Given the description of an element on the screen output the (x, y) to click on. 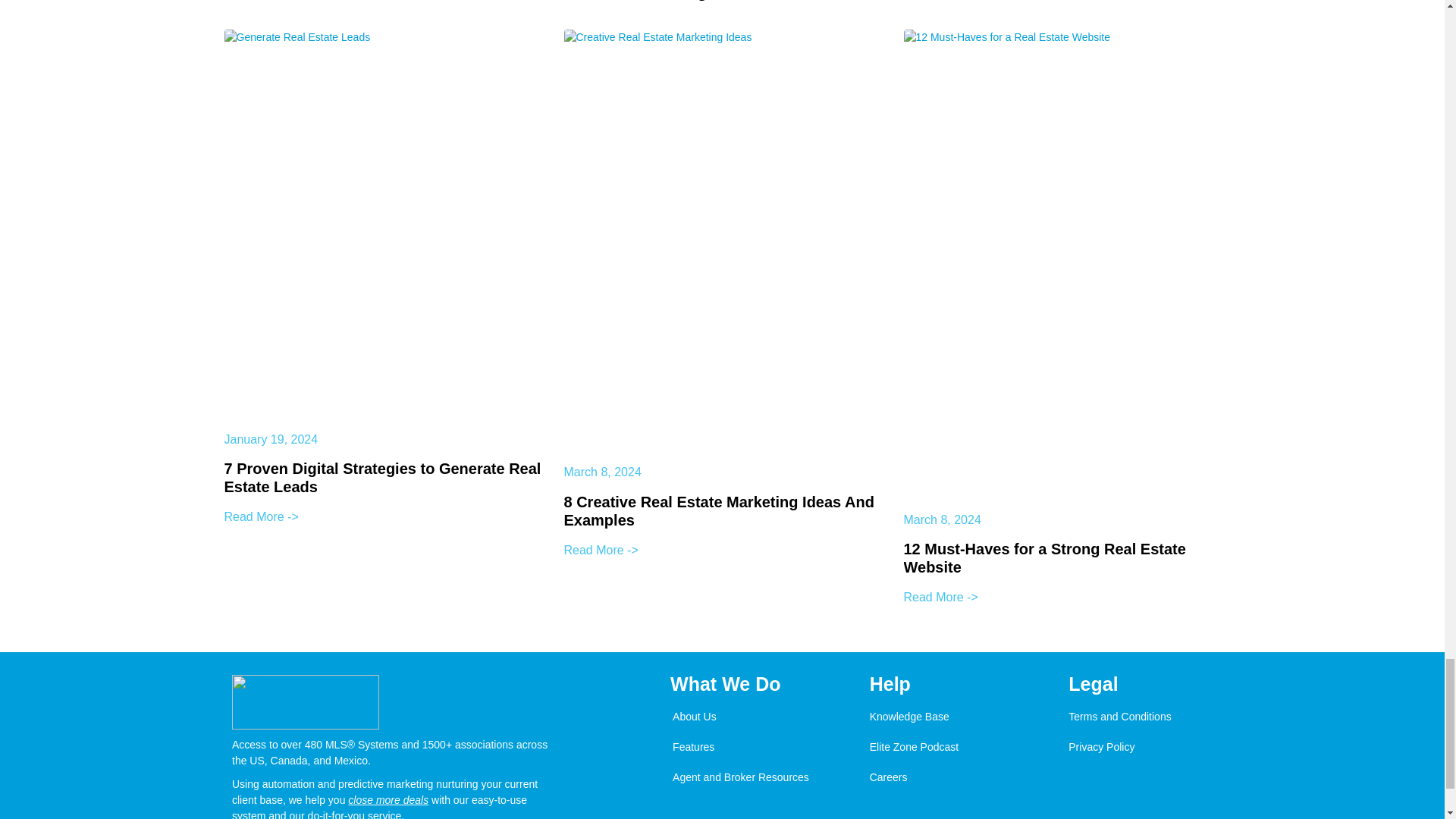
12 Must-Haves for a Strong Real Estate Website (1045, 557)
8 Creative Real Estate Marketing Ideas And Examples (719, 510)
7 Proven Digital Strategies to Generate Real Estate Leads (382, 477)
